Given the description of an element on the screen output the (x, y) to click on. 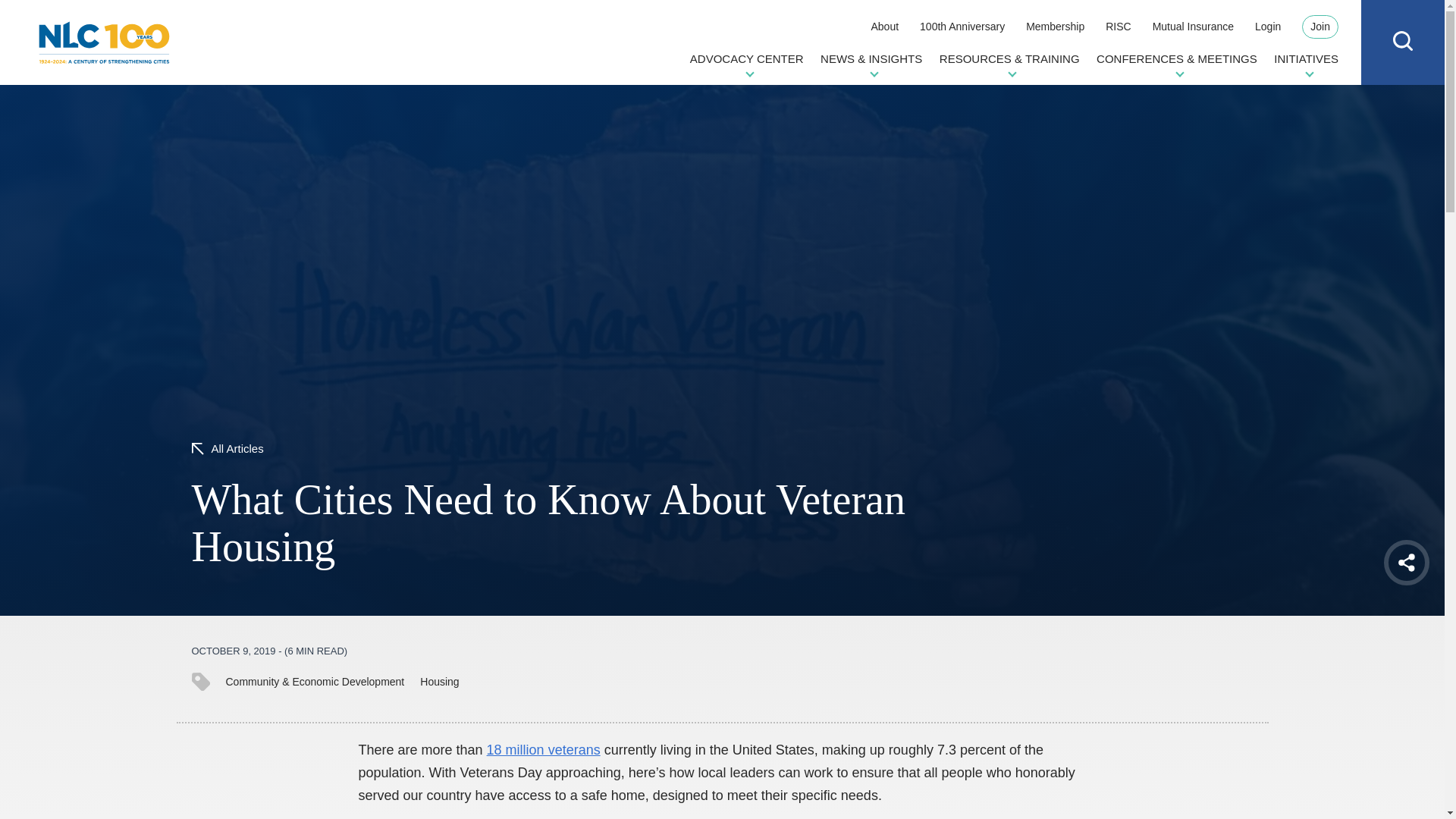
Login (1268, 26)
Join (1319, 26)
INITIATIVES (1306, 63)
Open search (1402, 40)
ADVOCACY CENTER (746, 63)
Membership (1055, 26)
RISC (1118, 26)
100th Anniversary (962, 26)
Mutual Insurance (1193, 26)
About (884, 26)
